Given the description of an element on the screen output the (x, y) to click on. 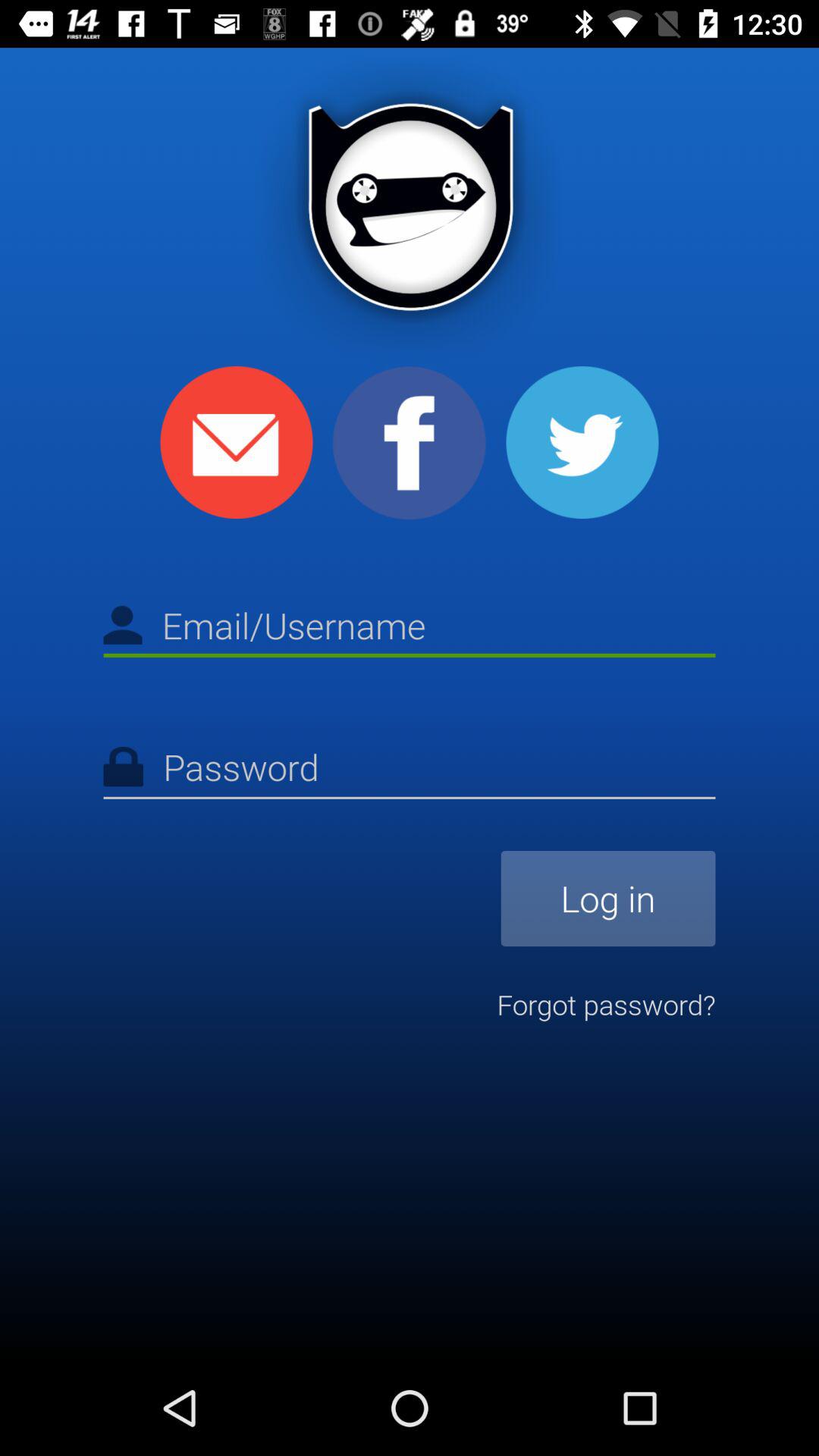
login with facebook (409, 442)
